Given the description of an element on the screen output the (x, y) to click on. 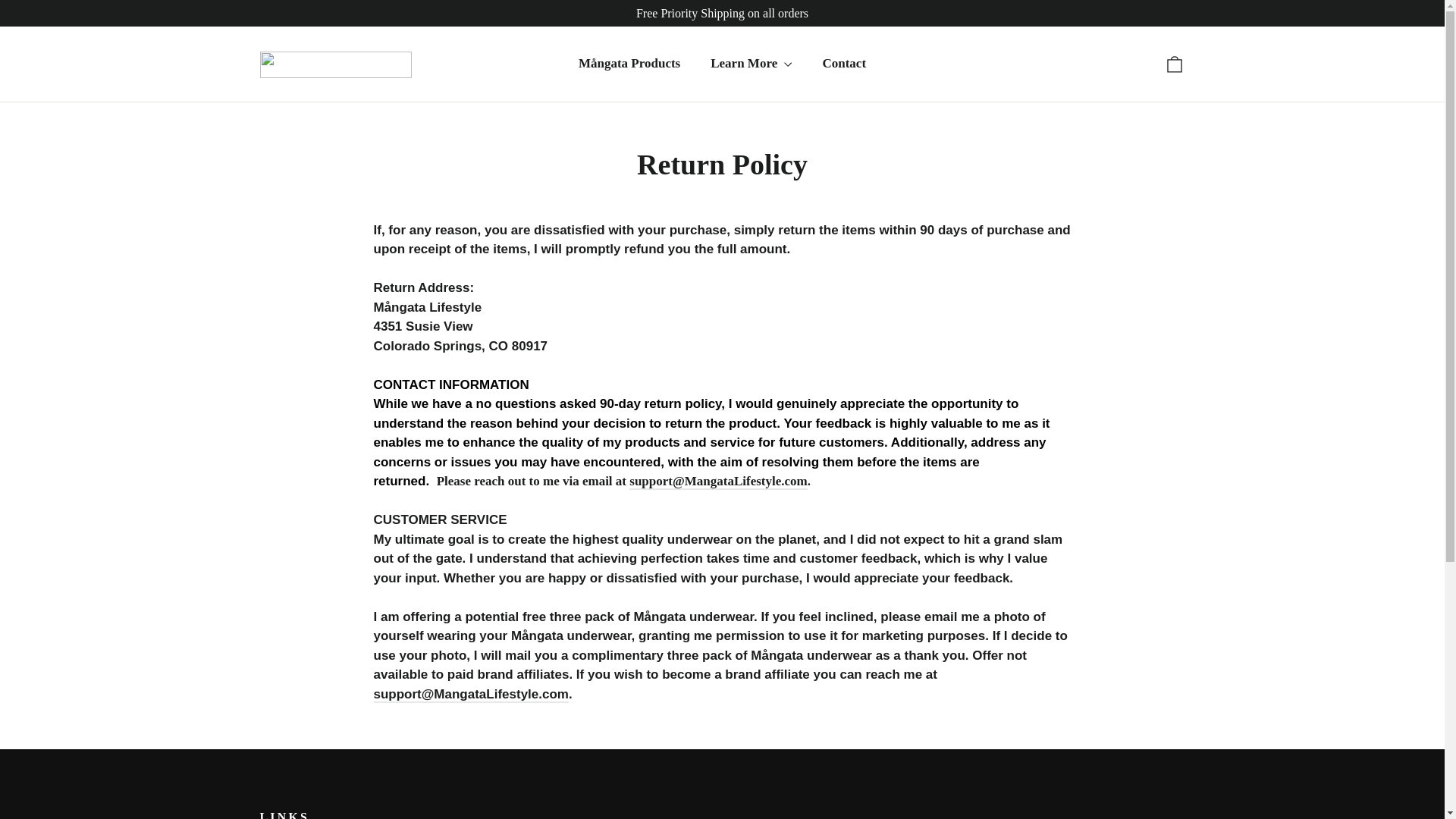
Email (1173, 63)
Contact (717, 481)
icon-bag-minimal (843, 63)
